Given the description of an element on the screen output the (x, y) to click on. 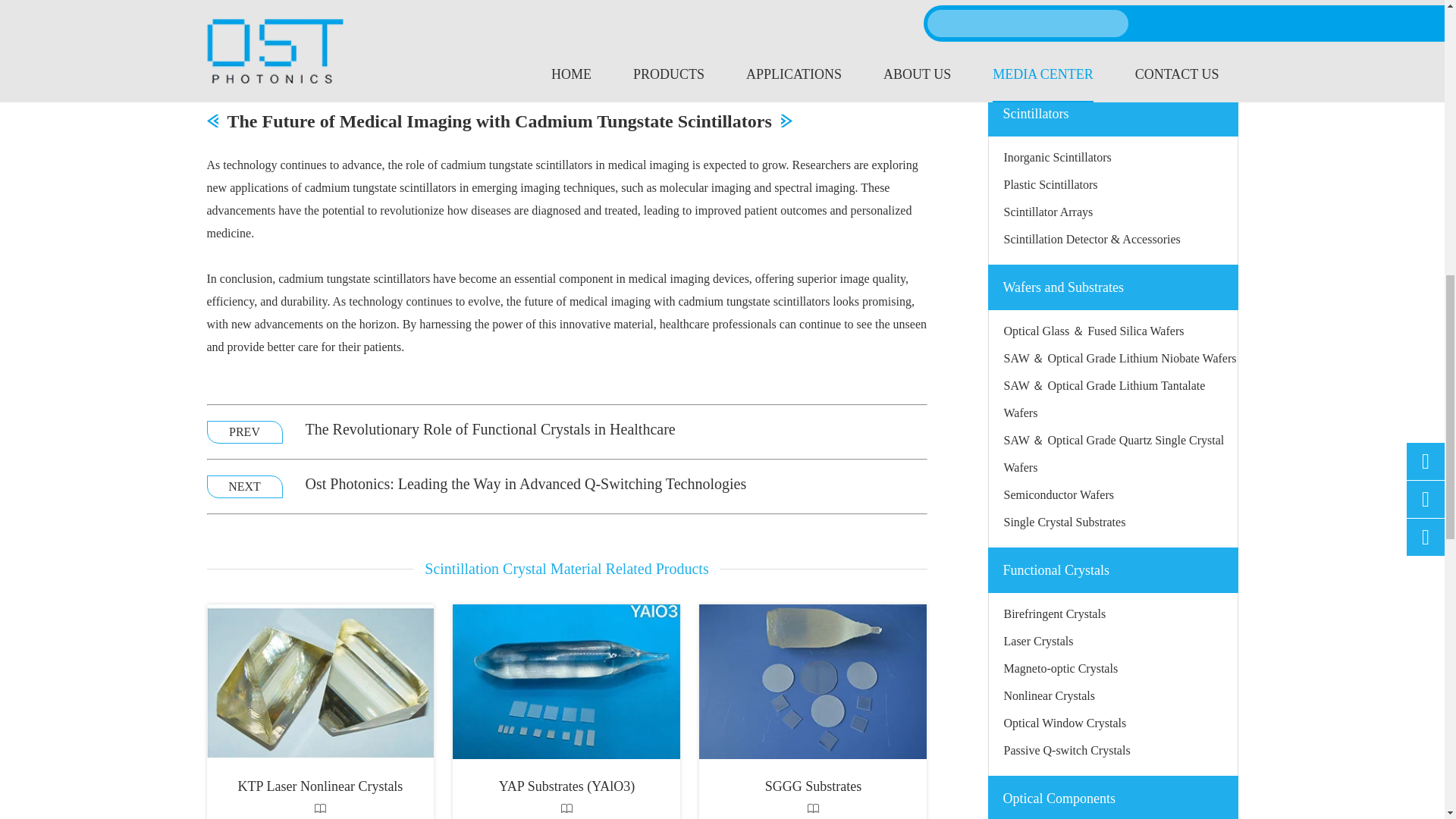
SGGG Substrates (812, 681)
The Revolutionary Role of Functional Crystals in Healthcare (489, 431)
KTP Laser Nonlinear Crystals (319, 681)
